Given the description of an element on the screen output the (x, y) to click on. 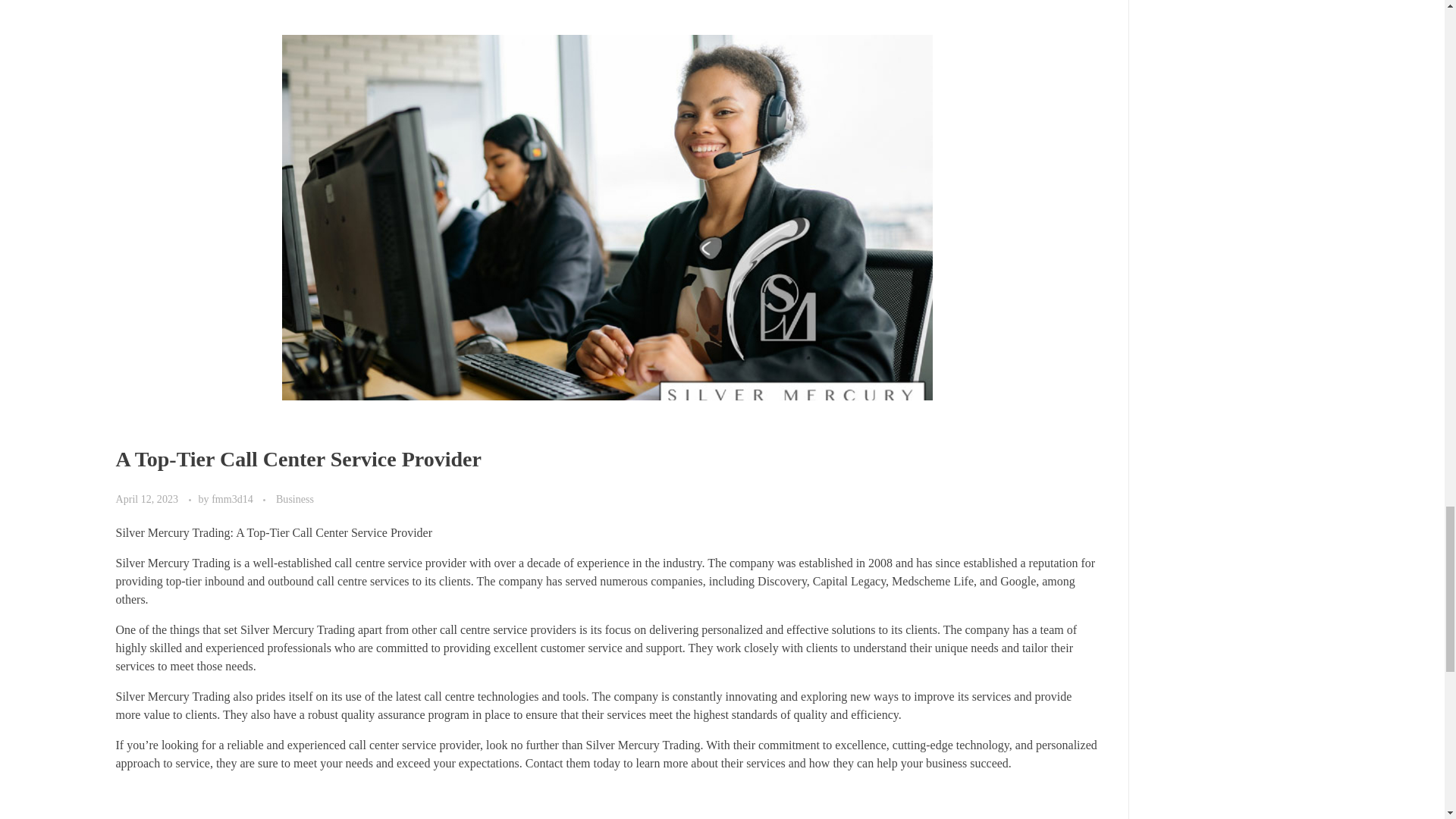
View all posts in Business (295, 498)
A Top-Tier Call Center Service Provider (297, 458)
View all posts by fmm3d14 (233, 499)
